Given the description of an element on the screen output the (x, y) to click on. 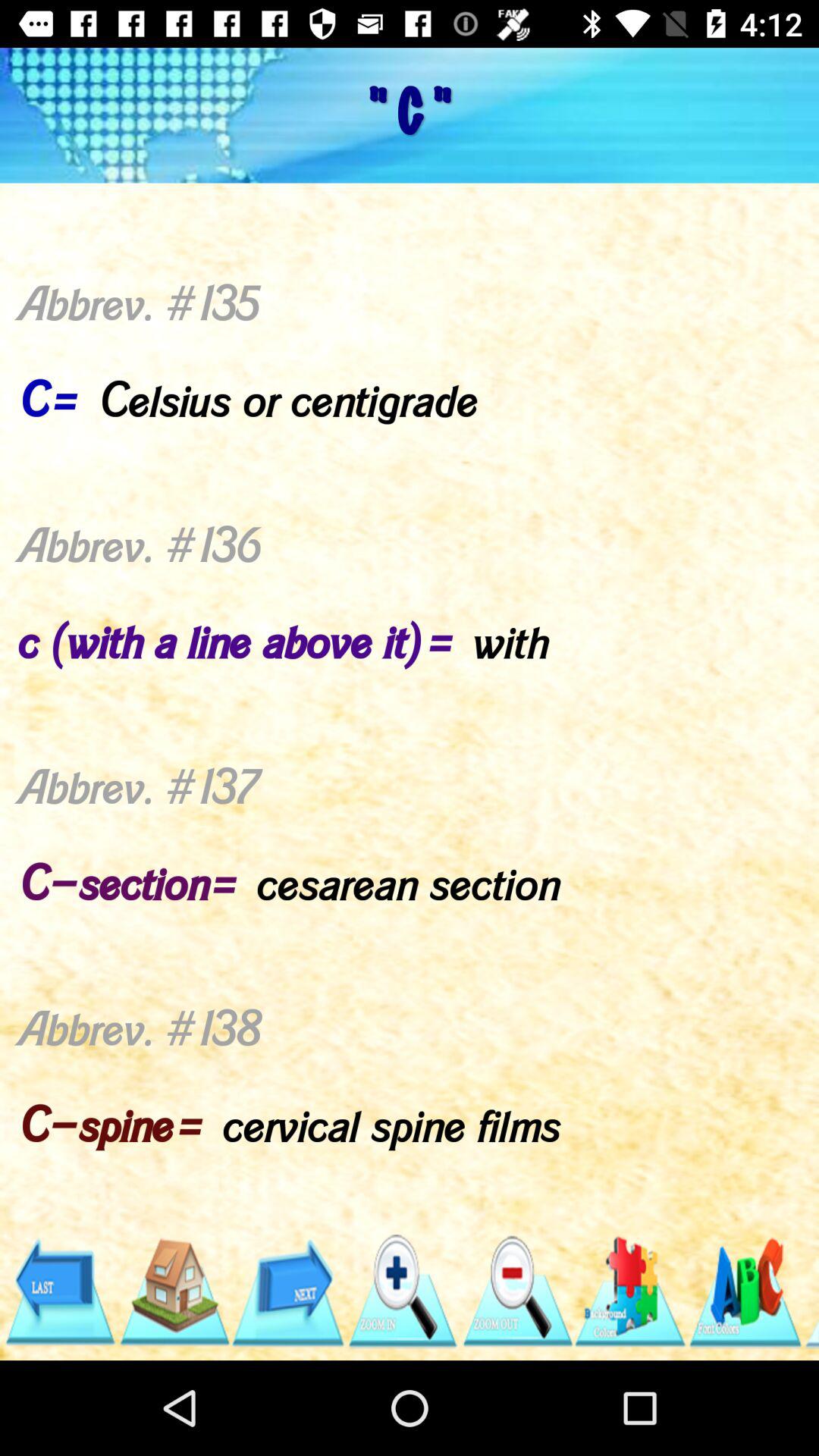
select the icon below abbrev 	135	 	c	 icon (287, 1291)
